Given the description of an element on the screen output the (x, y) to click on. 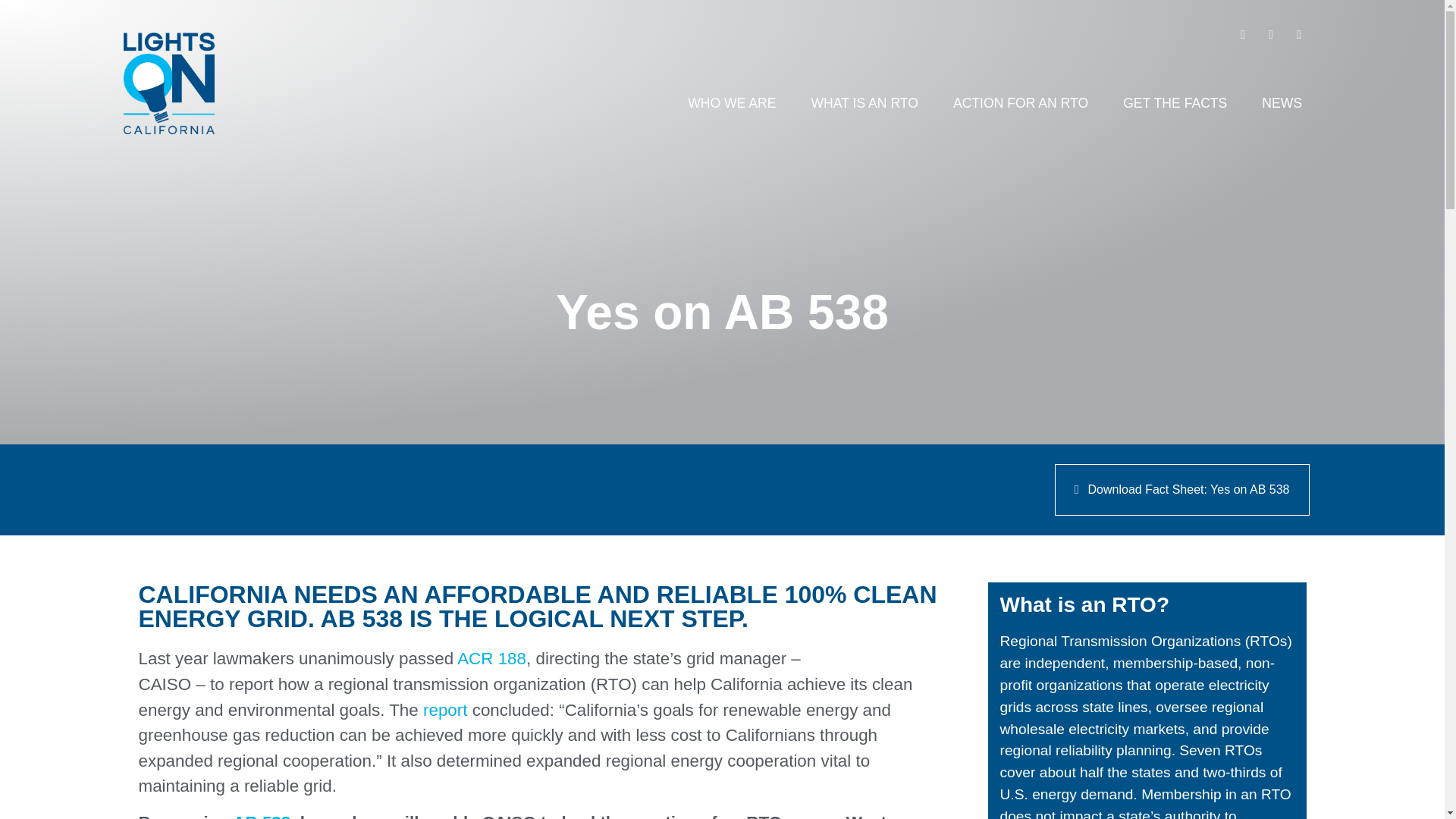
GET THE FACTS (1174, 102)
report (445, 710)
AB 538 (260, 816)
WHAT IS AN RTO (863, 102)
WHO WE ARE (731, 102)
Download Fact Sheet: Yes on AB 538 (1181, 489)
ACTION FOR AN RTO (1020, 102)
NEWS (1281, 102)
ACR 188 (491, 658)
